Given the description of an element on the screen output the (x, y) to click on. 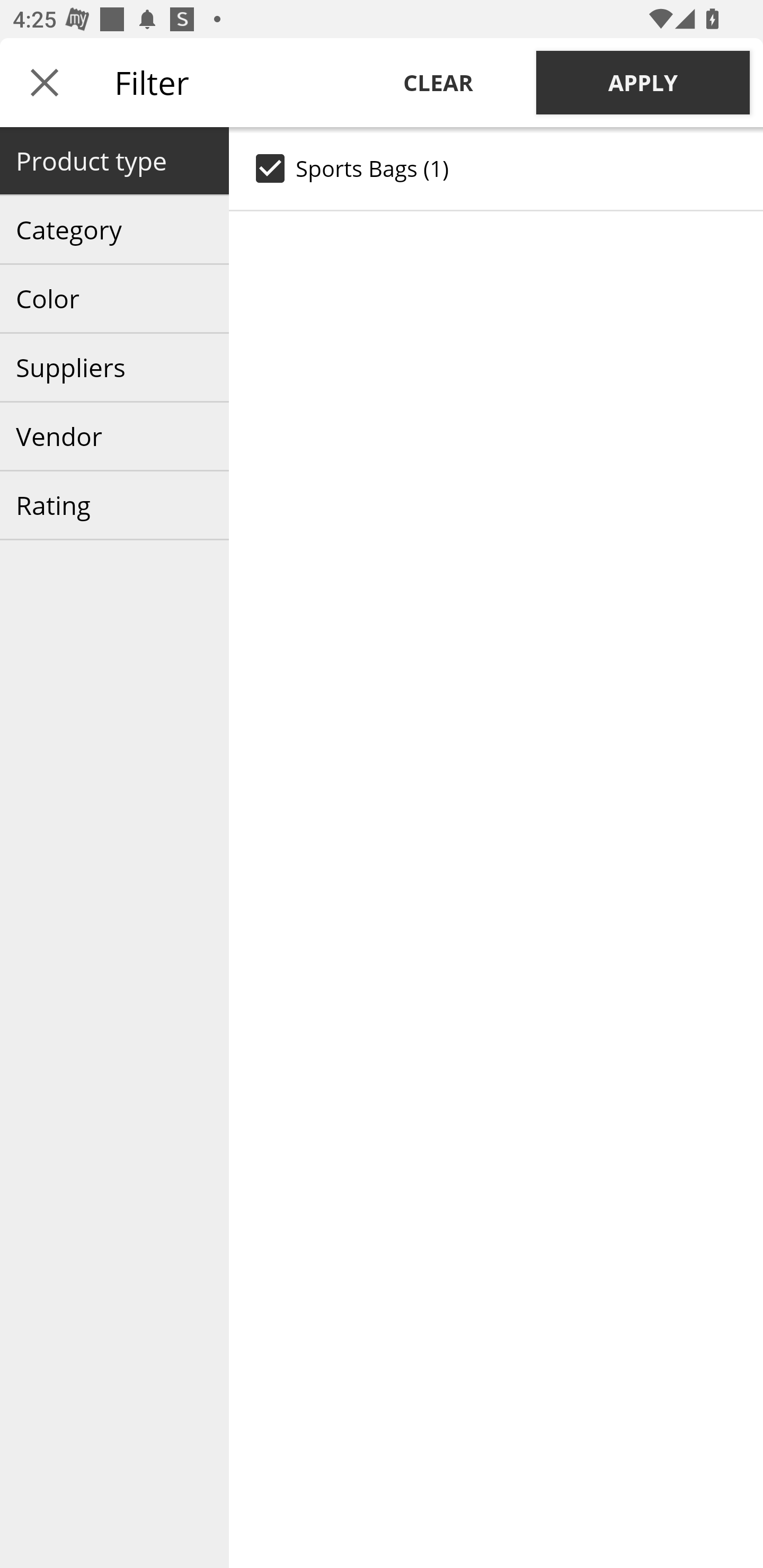
Navigate up (44, 82)
CLEAR (437, 82)
APPLY (643, 82)
Product type (114, 160)
Sports Bags (1) (495, 168)
Category (114, 229)
Color (114, 298)
Suppliers (114, 367)
Vendor (114, 436)
Rating (114, 505)
